Given the description of an element on the screen output the (x, y) to click on. 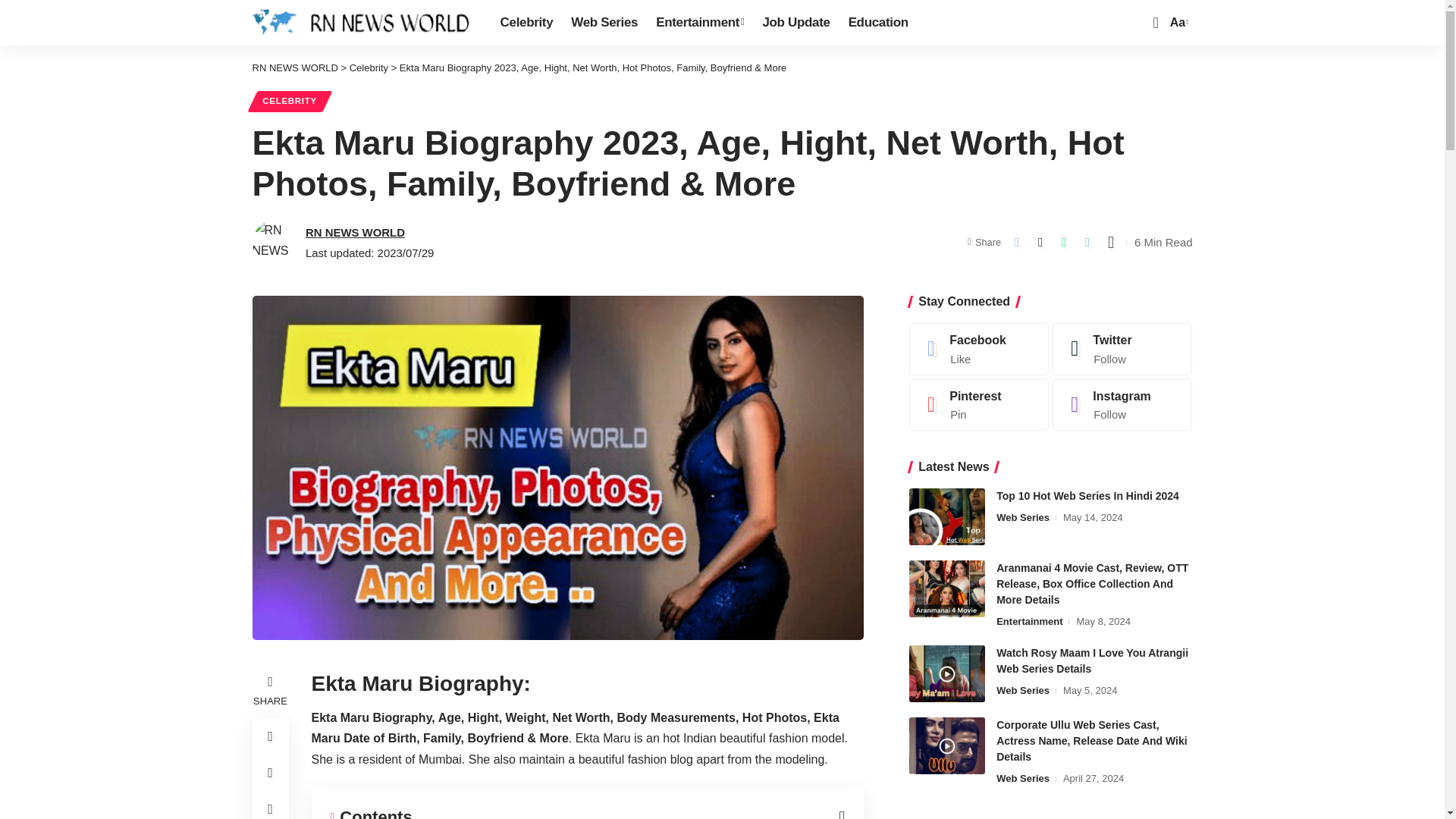
Go to RN NEWS WORLD. (294, 67)
Go to the Celebrity Category archives. (368, 67)
Entertainment (699, 22)
Celebrity (368, 67)
Web Series (604, 22)
Watch Rosy Maam I Love You Atrangii Web Series Details (946, 673)
RN NEWS WORLD (294, 67)
Education (878, 22)
RN NEWS WORLD (363, 22)
Celebrity (527, 22)
Job Update (795, 22)
Top 10 Hot Web Series In Hindi 2024 (1177, 22)
